Given the description of an element on the screen output the (x, y) to click on. 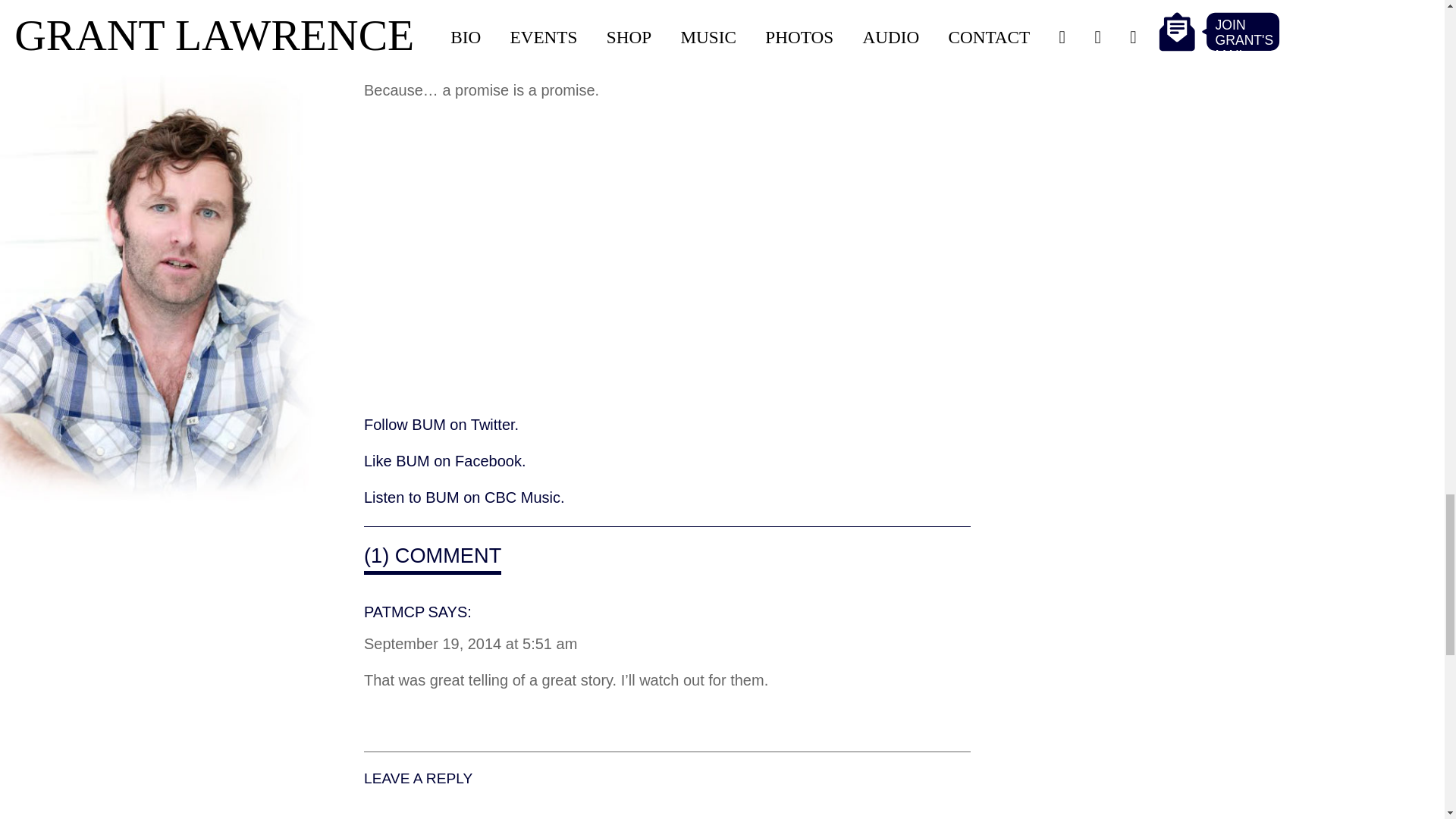
Like BUM on Facebook. (444, 462)
Follow BUM on Twitter. (441, 426)
September 19, 2014 at 5:51 am (470, 645)
Listen to BUM on CBC Music. (464, 498)
